Given the description of an element on the screen output the (x, y) to click on. 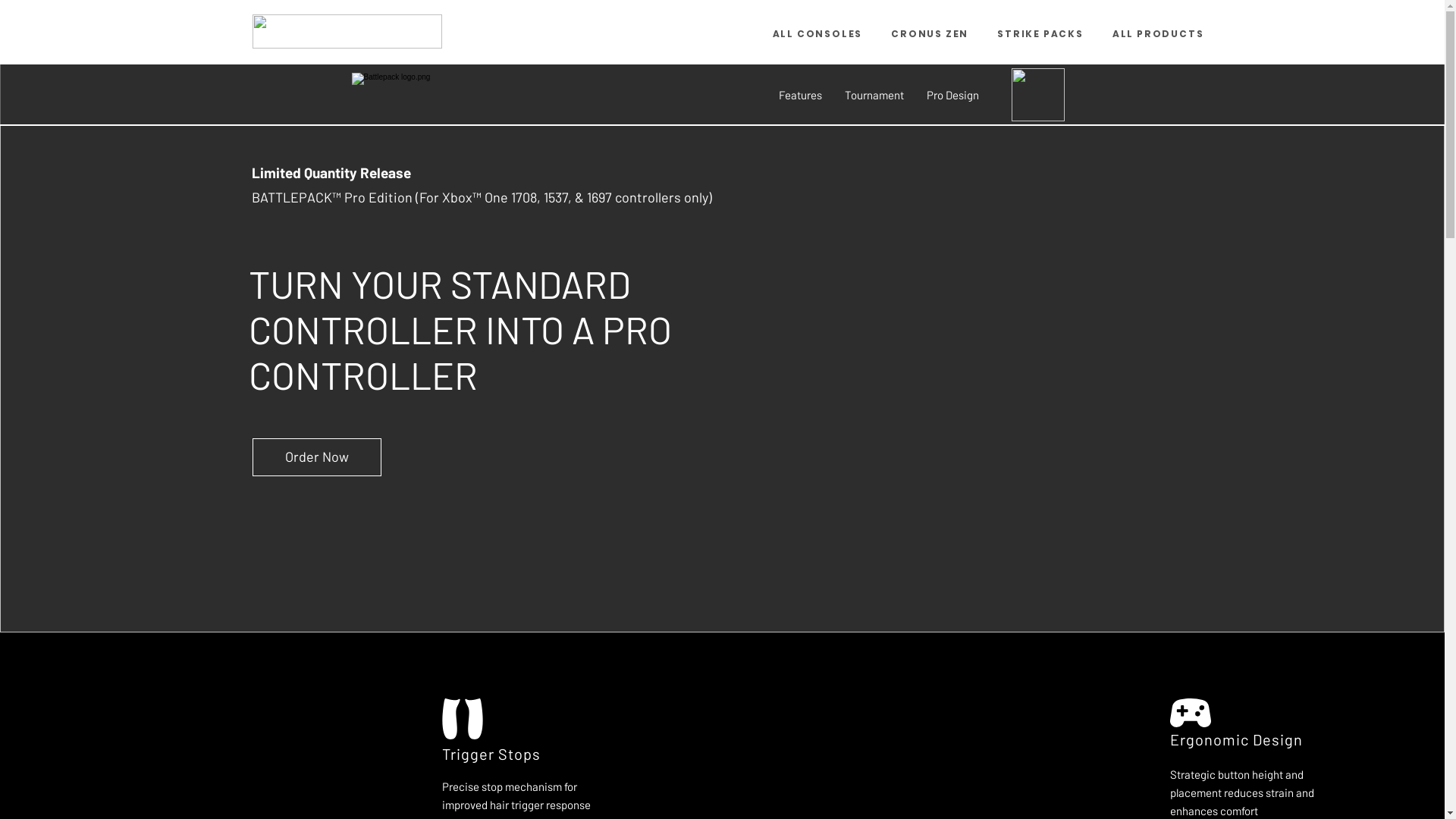
Features Element type: text (800, 94)
CRONUS ZEN Element type: text (929, 33)
manual icon_Green.png Element type: hover (1037, 94)
STRIKE PACKS Element type: text (1040, 33)
ALL CONSOLES Element type: text (817, 33)
Pro Design Element type: text (951, 94)
Tournament Element type: text (873, 94)
ALL PRODUCTS Element type: text (1158, 33)
Order Now Element type: text (316, 457)
CM_Logo_Black.png Element type: hover (346, 31)
